Given the description of an element on the screen output the (x, y) to click on. 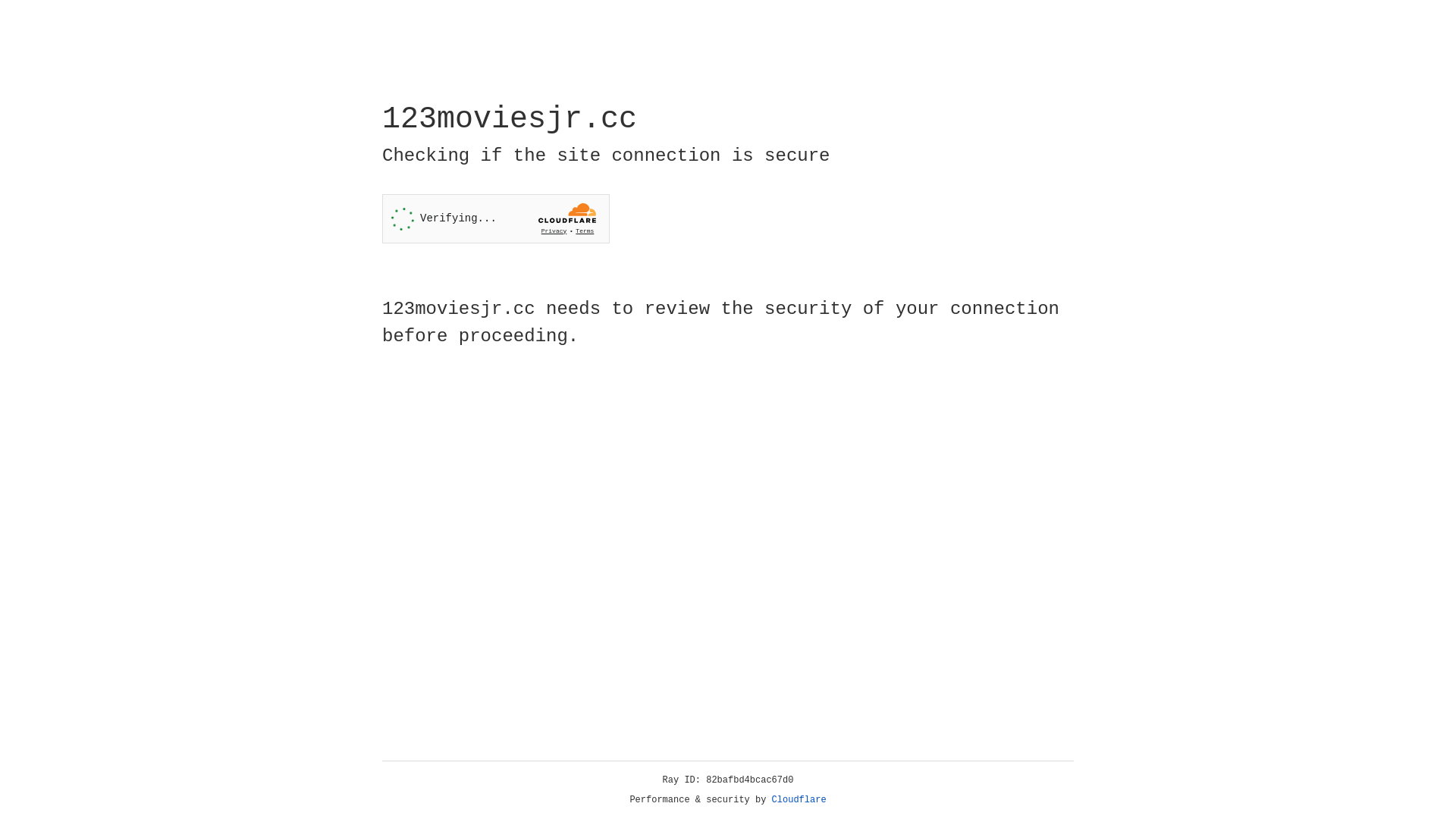
Widget containing a Cloudflare security challenge Element type: hover (495, 218)
Cloudflare Element type: text (798, 799)
